Given the description of an element on the screen output the (x, y) to click on. 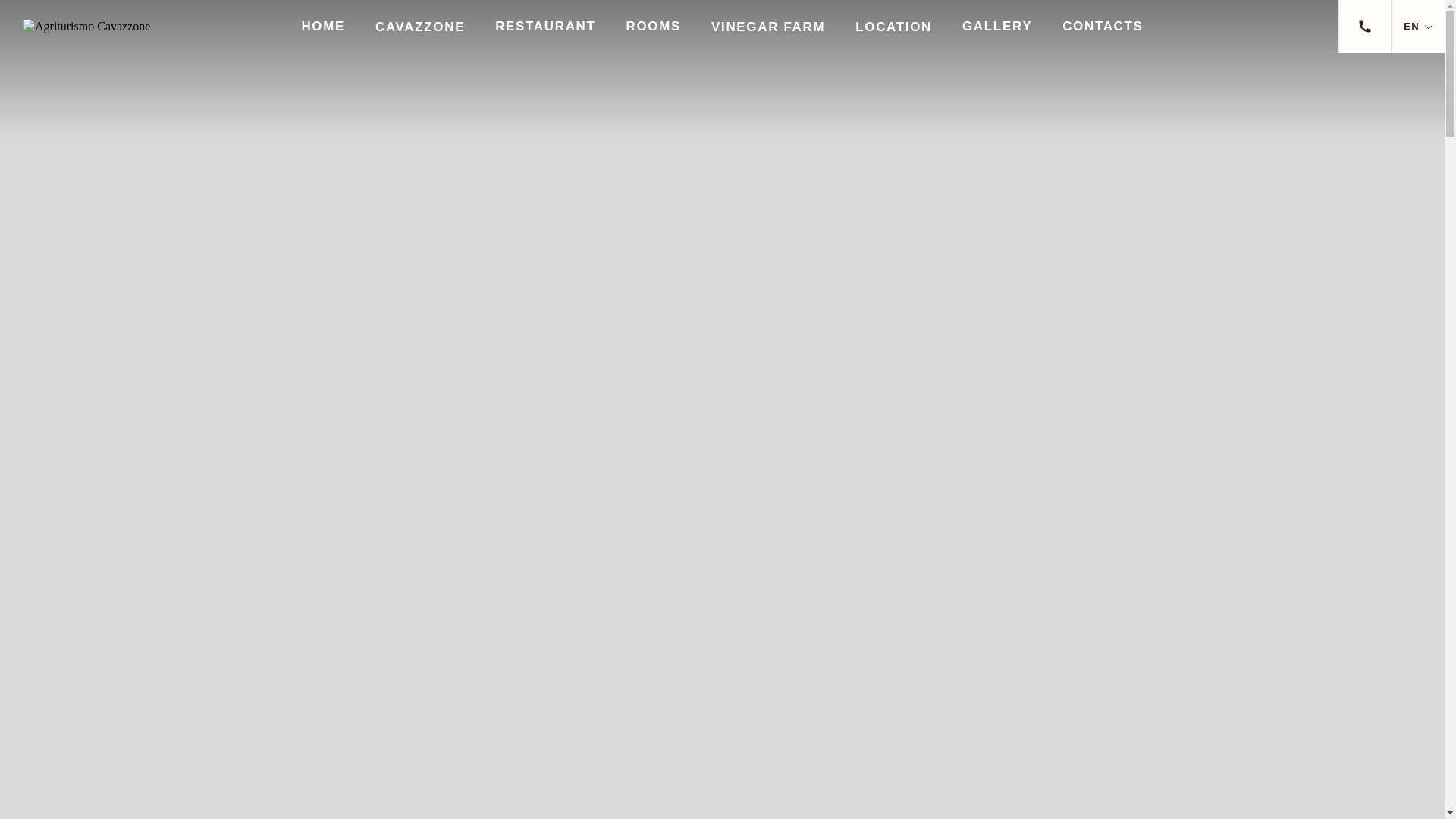
EN (1411, 26)
RESTAURANT (545, 25)
HOME (323, 25)
GALLERY (997, 25)
ROOMS (653, 25)
CONTACTS (1102, 25)
